Given the description of an element on the screen output the (x, y) to click on. 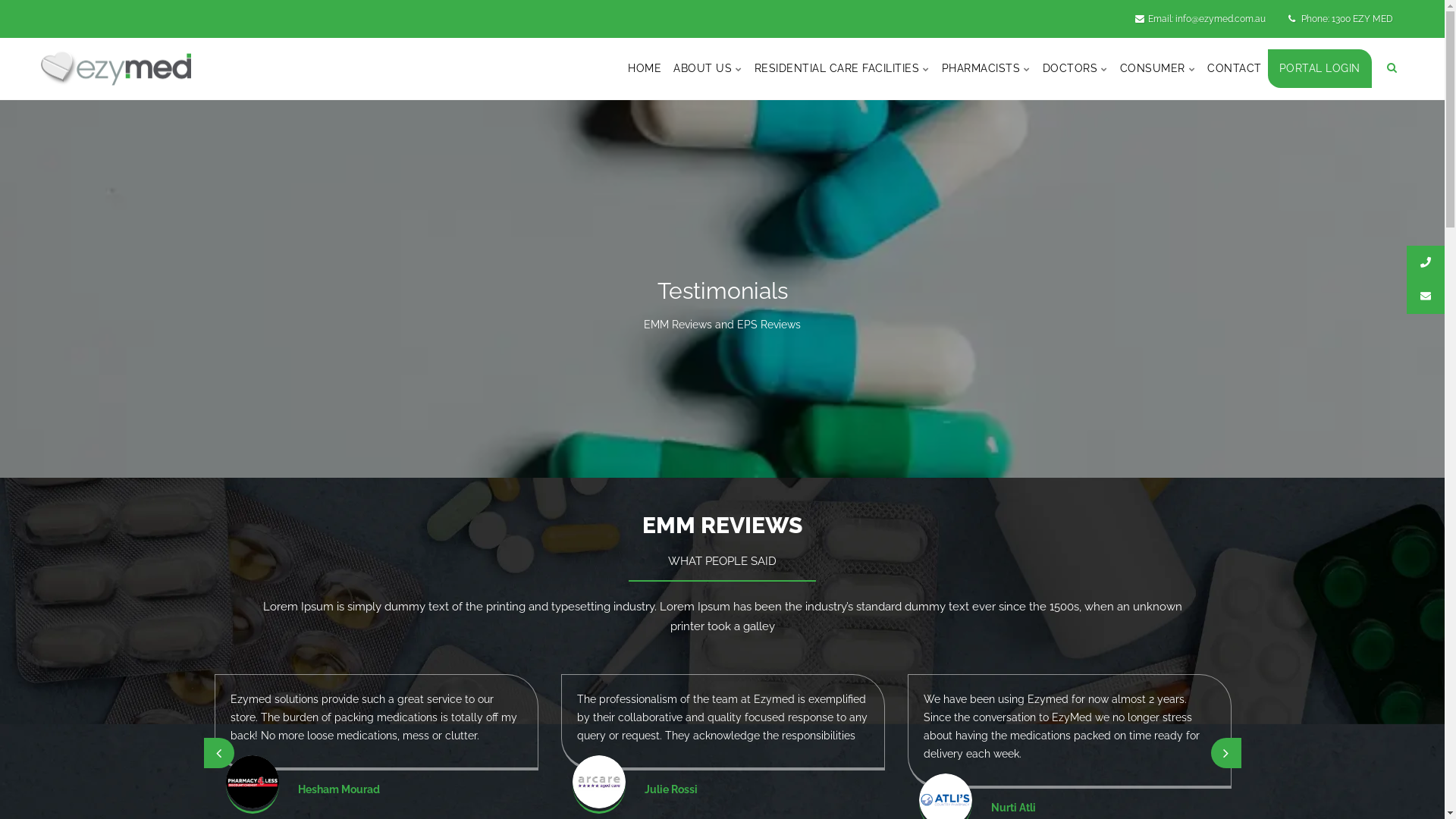
PHARMACISTS Element type: text (985, 68)
Email: info@ezymed.com.au Element type: text (1200, 18)
RESIDENTIAL CARE FACILITIES Element type: text (841, 68)
Next Element type: text (1225, 752)
Previous Element type: text (218, 752)
HOME Element type: text (644, 68)
ABOUT US Element type: text (707, 68)
PORTAL LOGIN Element type: text (1319, 68)
CONTACT Element type: text (1234, 68)
DOCTORS Element type: text (1074, 68)
CONSUMER Element type: text (1157, 68)
Phone: 1300 EZY MED Element type: text (1340, 18)
